Given the description of an element on the screen output the (x, y) to click on. 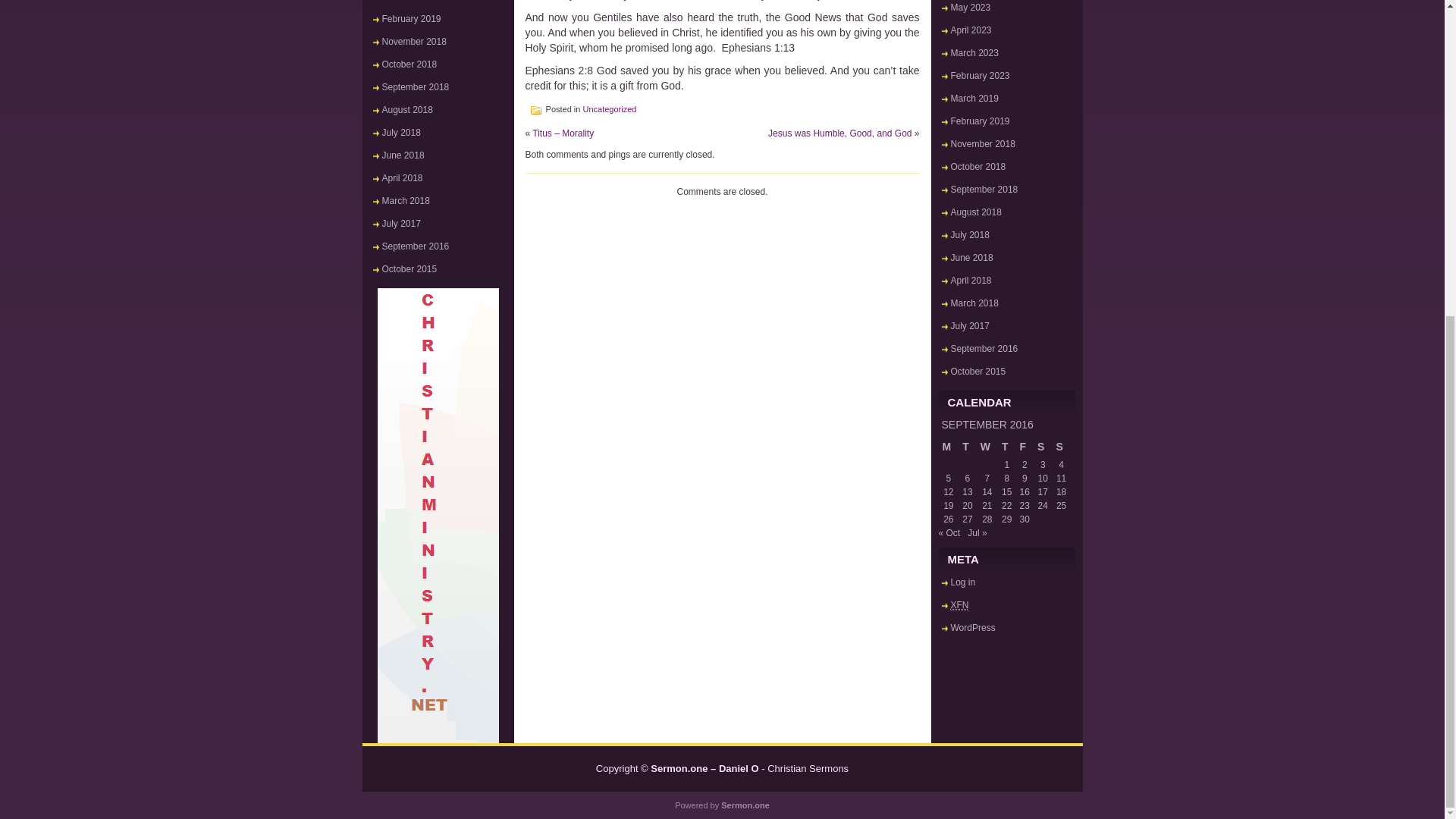
June 2018 (403, 154)
March 2018 (405, 200)
XHTML Friends Network (959, 604)
February 2019 (411, 18)
July 2017 (400, 223)
Uncategorized (609, 108)
October 2015 (409, 268)
April 2018 (402, 177)
October 2018 (409, 63)
